Given the description of an element on the screen output the (x, y) to click on. 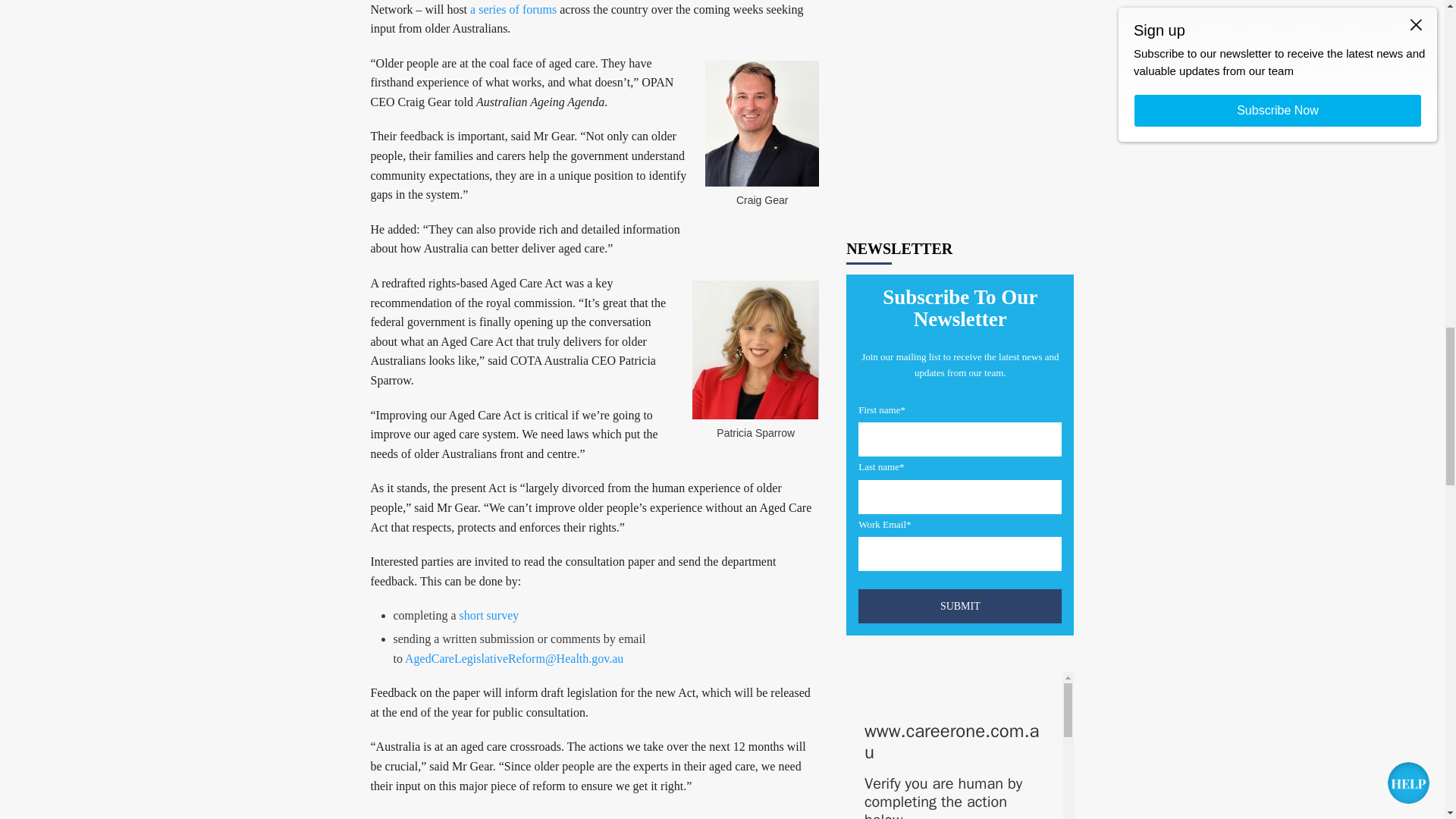
312 (864, 622)
314 (864, 736)
311 (864, 545)
3rd party ad content (959, 57)
3rd party ad content (959, 246)
short survey (489, 615)
a series of forums (511, 9)
313 (864, 679)
315 (864, 812)
